Given the description of an element on the screen output the (x, y) to click on. 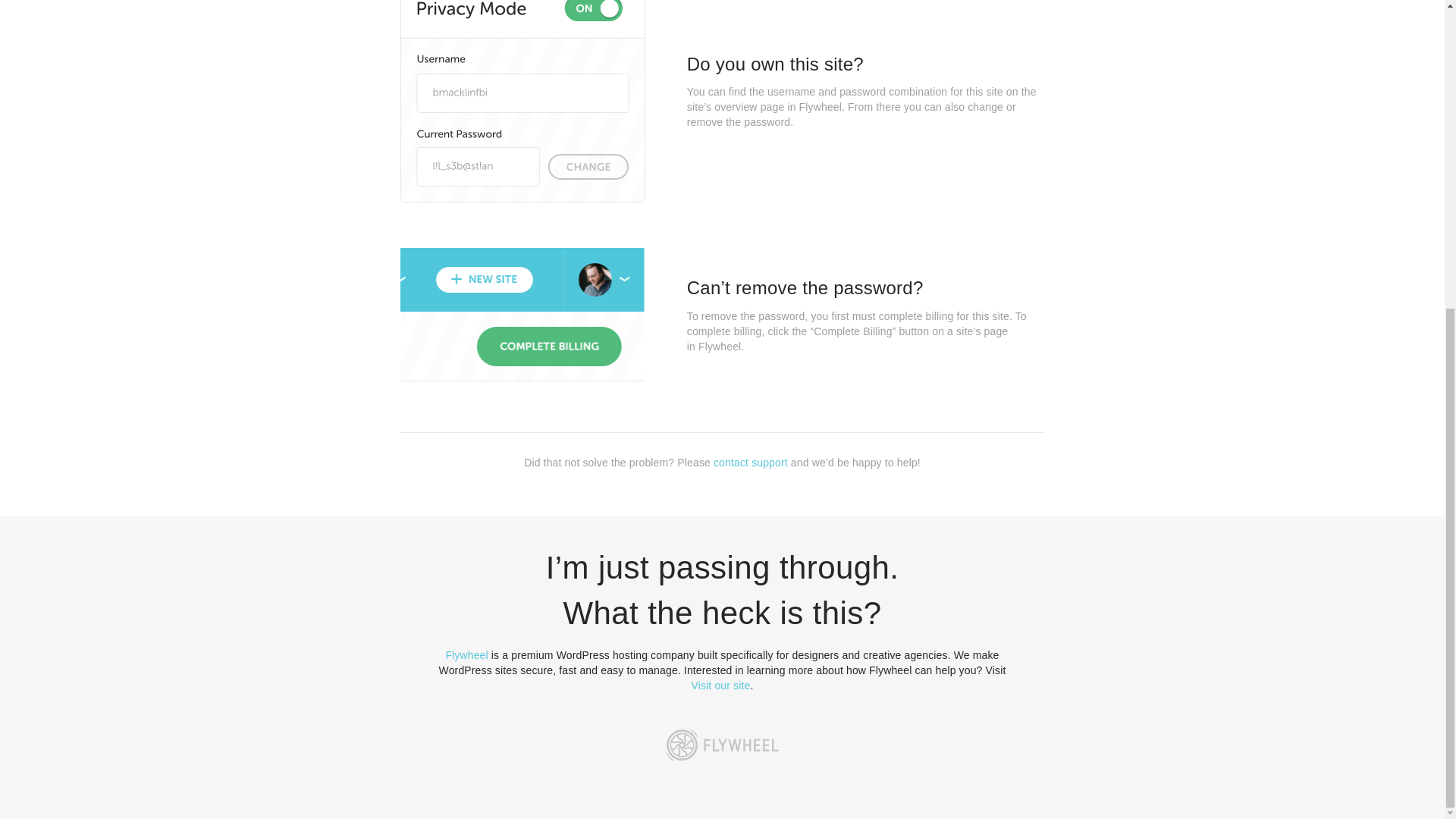
Flywheel (466, 654)
contact support (750, 462)
Visit our site (721, 685)
